Given the description of an element on the screen output the (x, y) to click on. 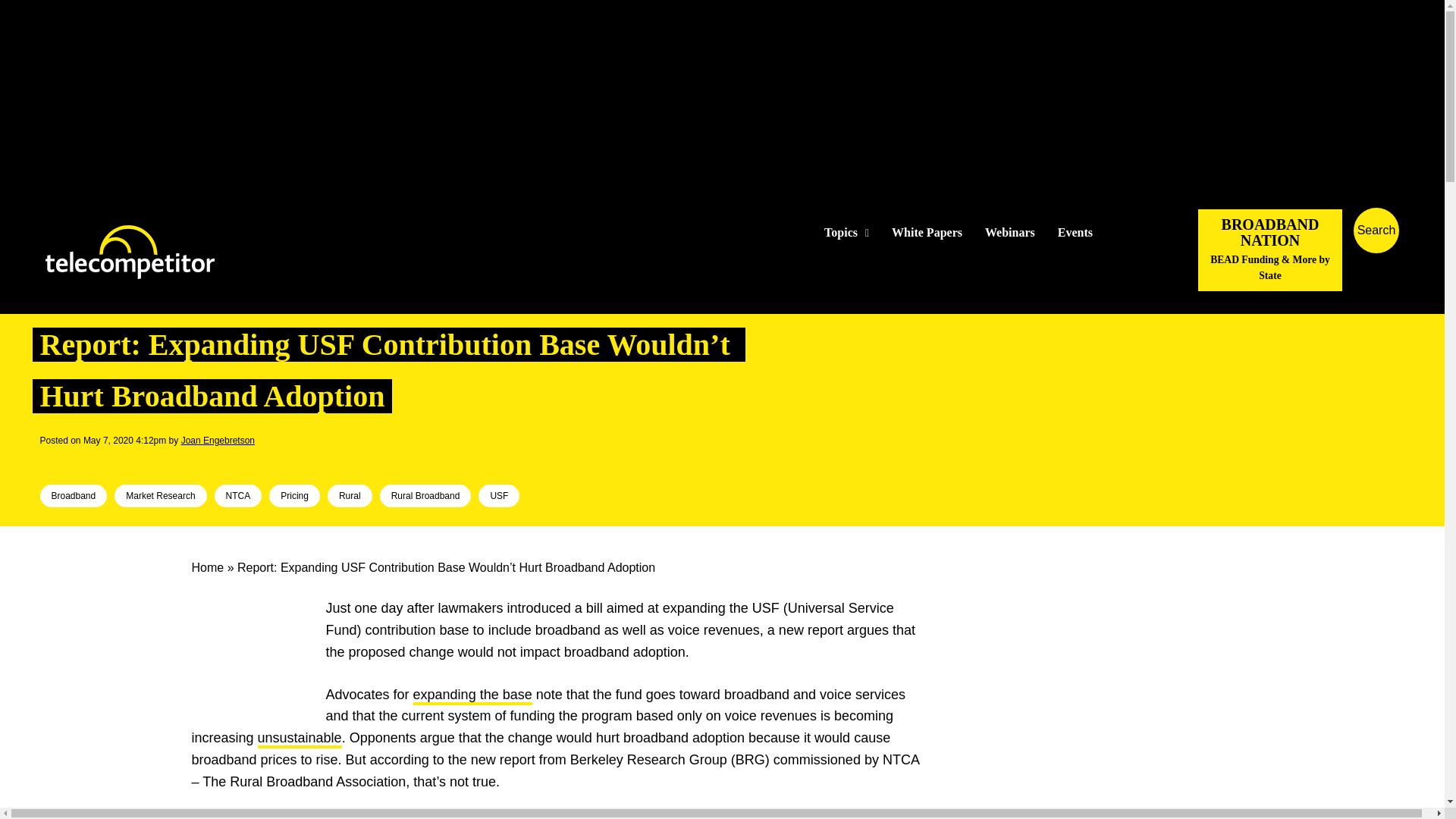
Follow Us on LinkedIN (1151, 232)
Follow Us on Twitter (1127, 232)
Pinterest (124, 460)
Spread the word on Twitter (75, 460)
Share on Linked In (99, 460)
Webinars (1010, 232)
Search (1430, 253)
White Papers (927, 232)
Topics (846, 232)
Search telecompetitor.com (1376, 230)
